Given the description of an element on the screen output the (x, y) to click on. 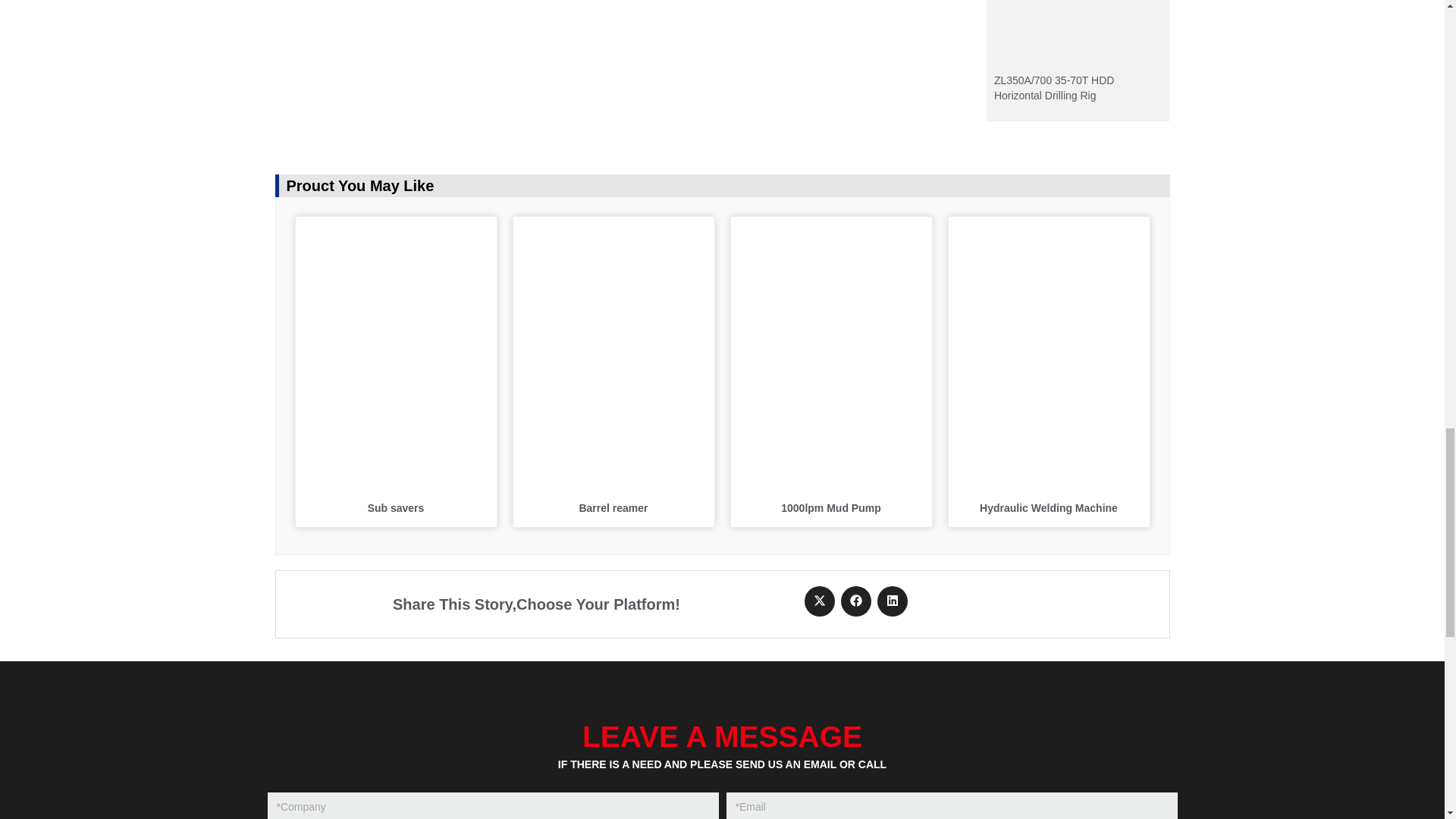
Share on LinkedIn (892, 601)
Share on Facebook (855, 601)
Share on X (819, 601)
